Given the description of an element on the screen output the (x, y) to click on. 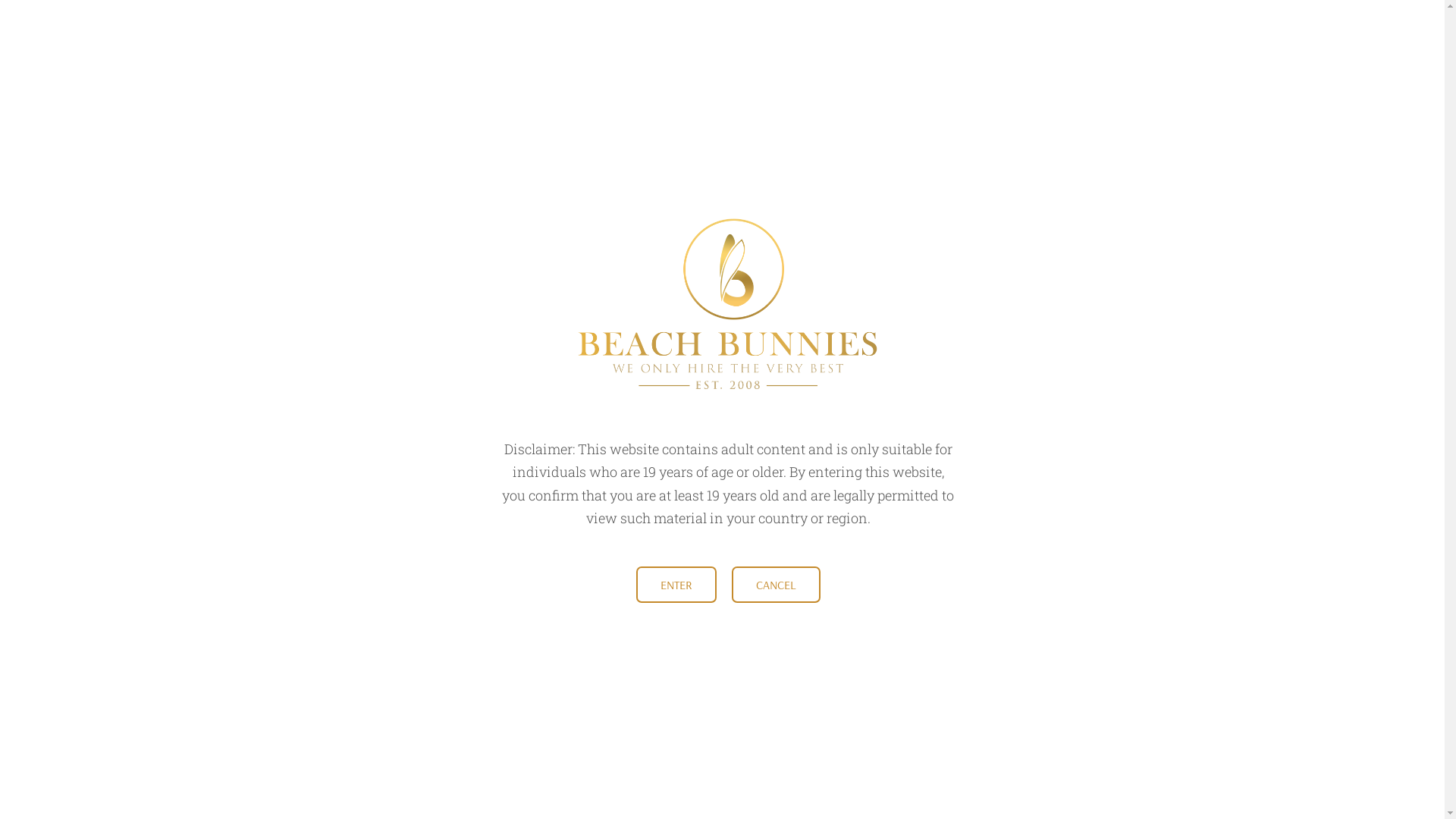
CANCEL Element type: text (775, 584)
CALL Element type: text (1207, 28)
ENTER Element type: text (675, 584)
MENU Element type: text (248, 28)
